Given the description of an element on the screen output the (x, y) to click on. 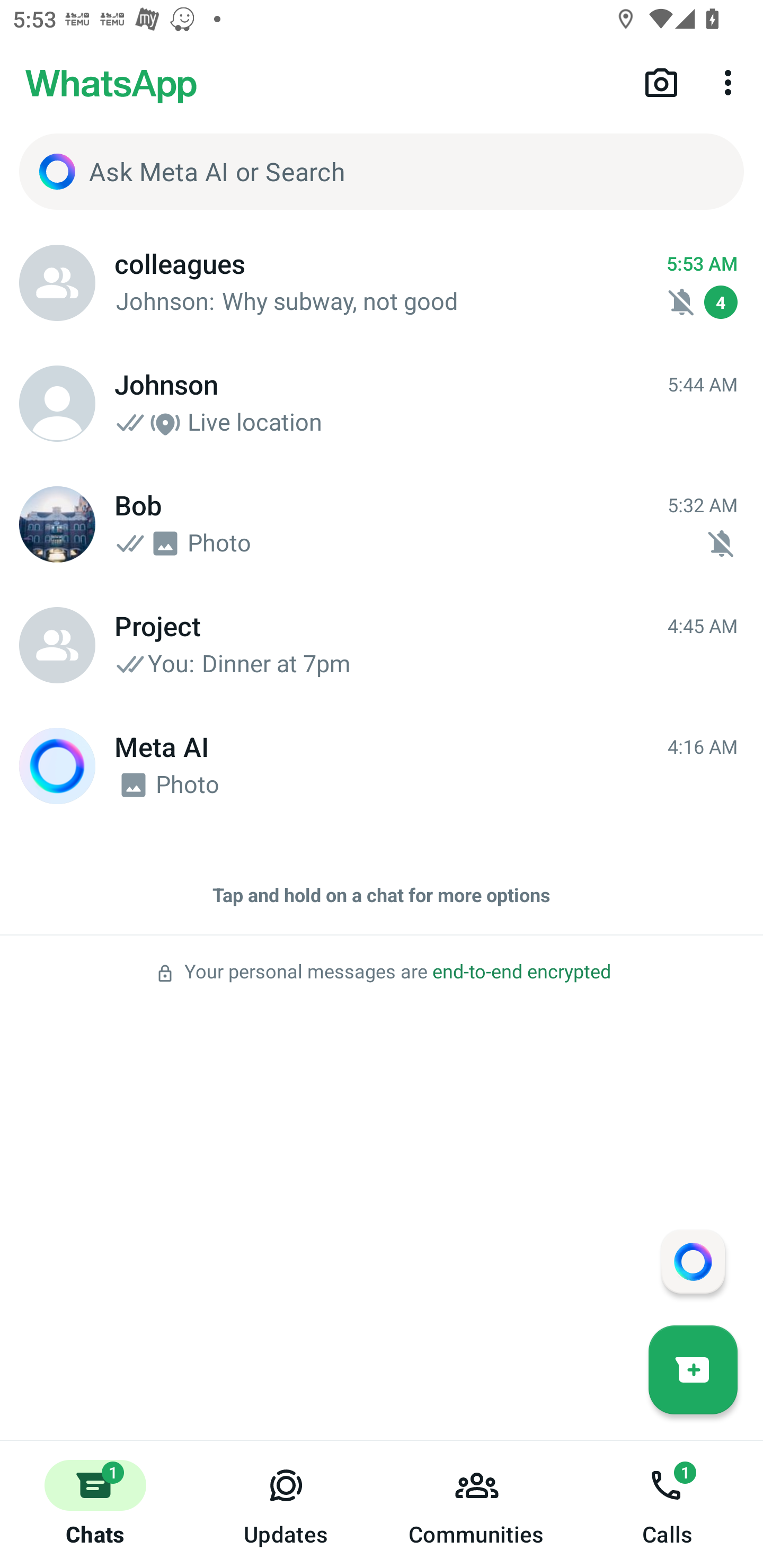
Camera (661, 81)
More options (731, 81)
colleagues (57, 282)
Johnson Johnson 5:44 AM 5:44 AM Live location (381, 403)
Johnson (57, 403)
Bob Bob 5:32 AM 5:32 AM Photo Mute notifications (381, 524)
Bob (57, 524)
Project (57, 644)
Meta AI Meta AI 4:16 AM 4:16 AM Photo (381, 765)
Meta AI (57, 765)
end-to-end encrypted (521, 972)
Message your assistant (692, 1261)
New chat (692, 1369)
Updates (285, 1504)
Communities (476, 1504)
Calls, 1 new notification Calls (667, 1504)
